Given the description of an element on the screen output the (x, y) to click on. 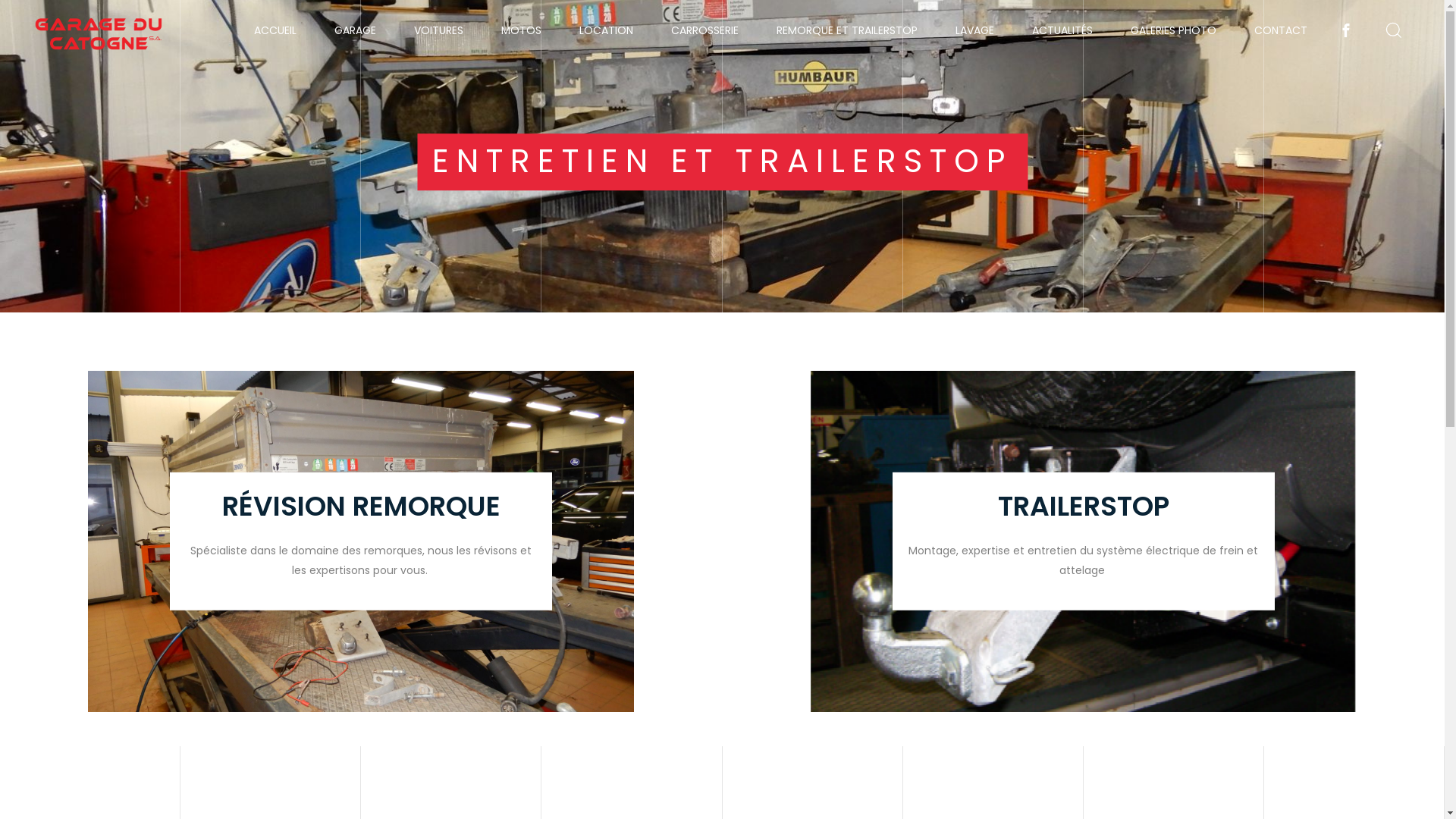
LOCATION Element type: text (605, 30)
VOITURES Element type: text (438, 30)
REMORQUE ET TRAILERSTOP Element type: text (846, 30)
CARROSSERIE Element type: text (704, 30)
MOTOS Element type: text (520, 30)
GALERIES PHOTO Element type: text (1173, 30)
CONTACT Element type: text (1280, 30)
LAVAGE Element type: text (974, 30)
GARAGE Element type: text (355, 30)
ACCUEIL Element type: text (274, 30)
